Given the description of an element on the screen output the (x, y) to click on. 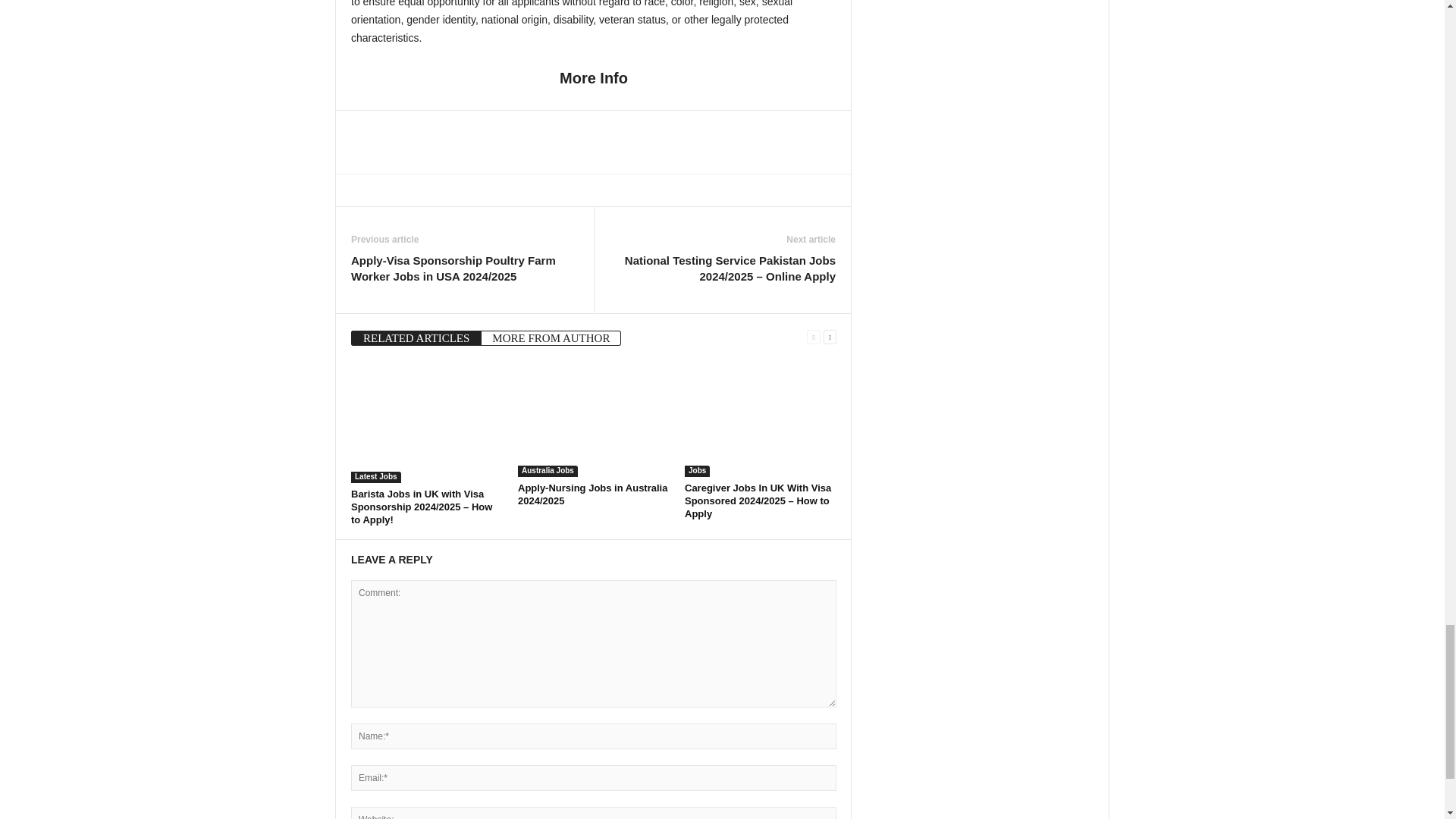
MORE FROM AUTHOR (551, 337)
RELATED ARTICLES (415, 337)
